Given the description of an element on the screen output the (x, y) to click on. 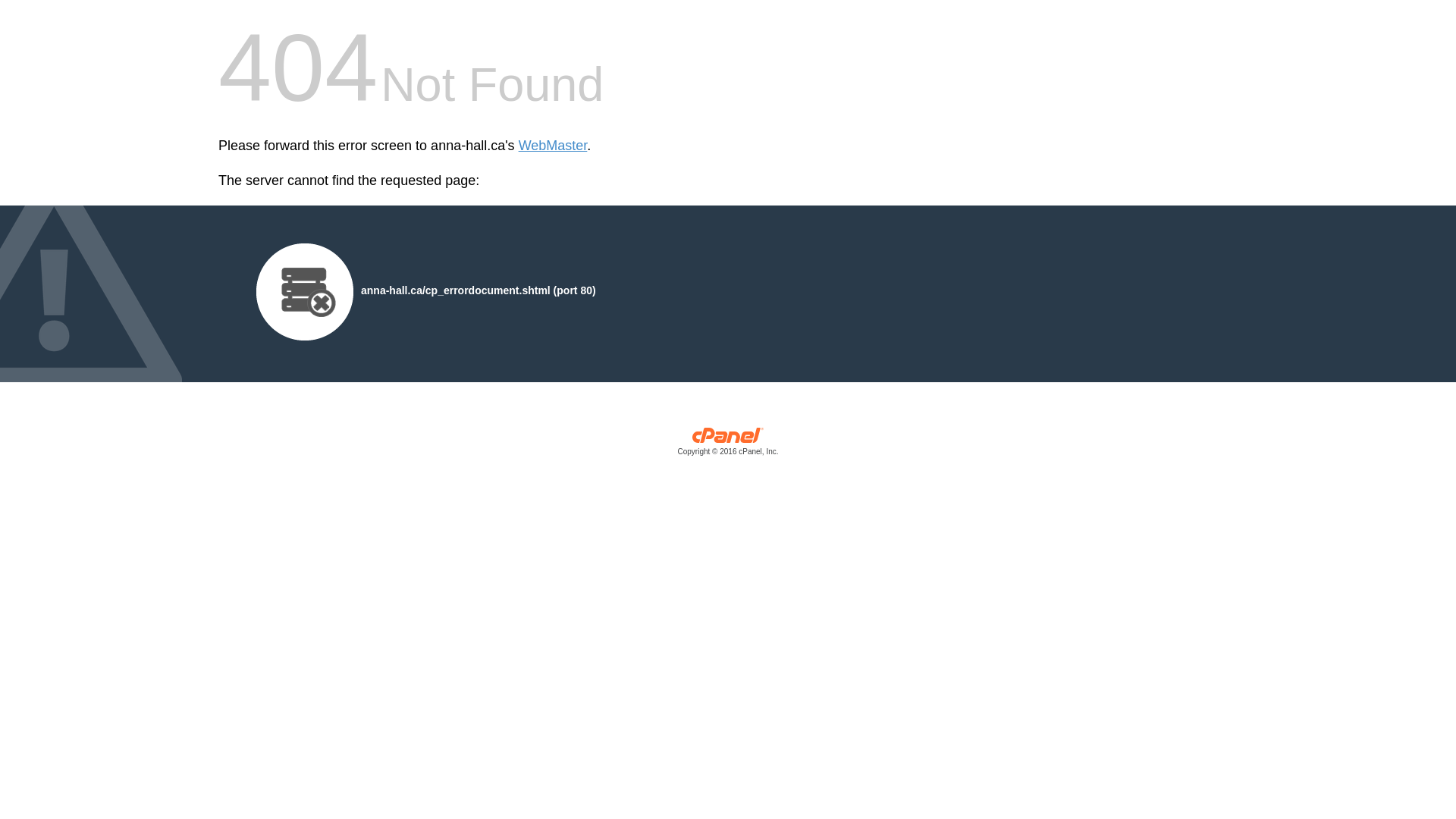
WebMaster Element type: text (552, 145)
